Given the description of an element on the screen output the (x, y) to click on. 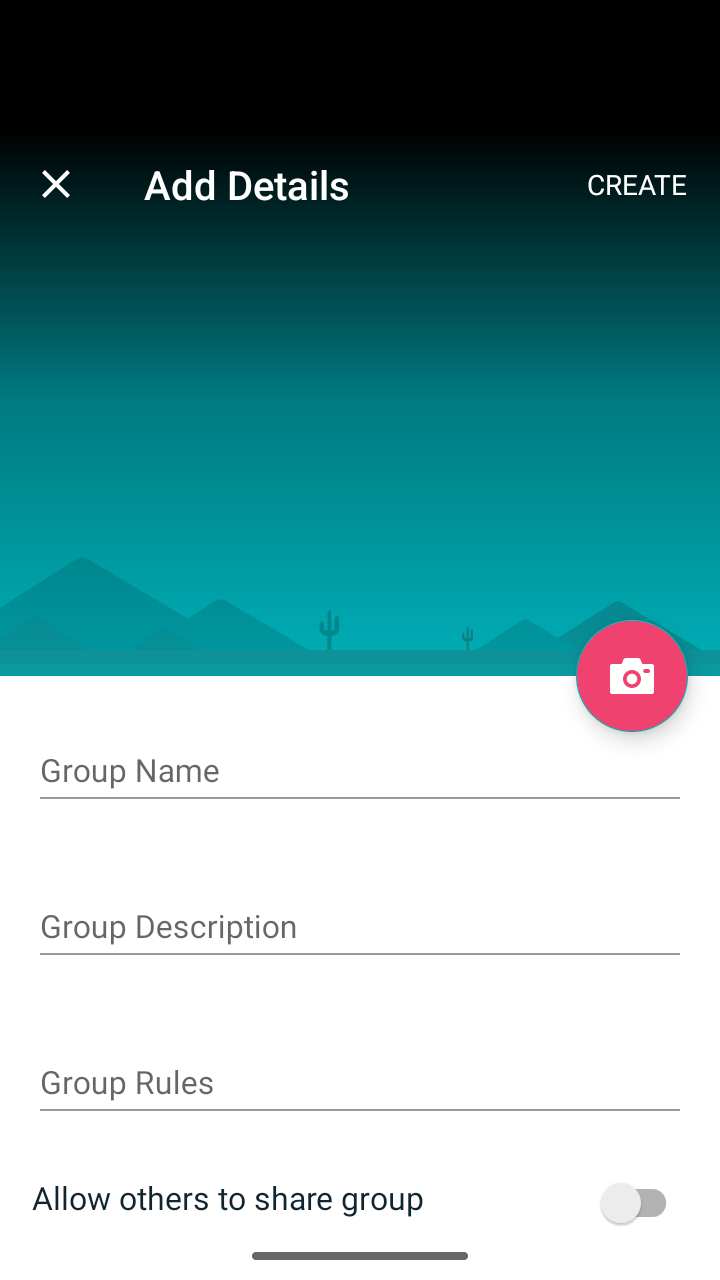
CREATE (637, 184)
Group Name (359, 772)
Group Description (359, 928)
Group Rules (359, 1083)
